Given the description of an element on the screen output the (x, y) to click on. 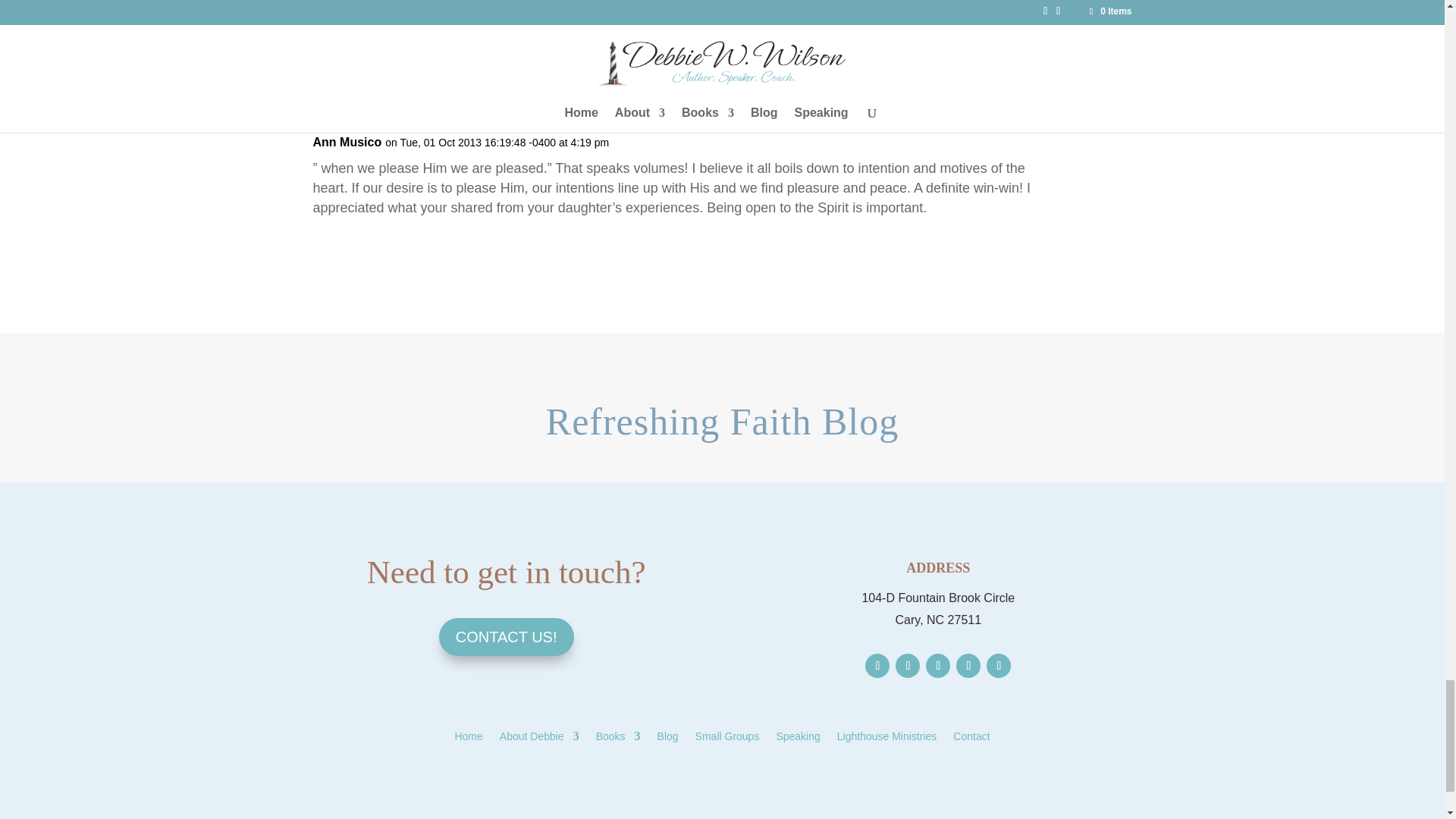
Follow on X (907, 665)
Follow on RSS (998, 665)
Follow on Facebook (876, 665)
Follow on Instagram (938, 665)
Follow on Pinterest (967, 665)
